Given the description of an element on the screen output the (x, y) to click on. 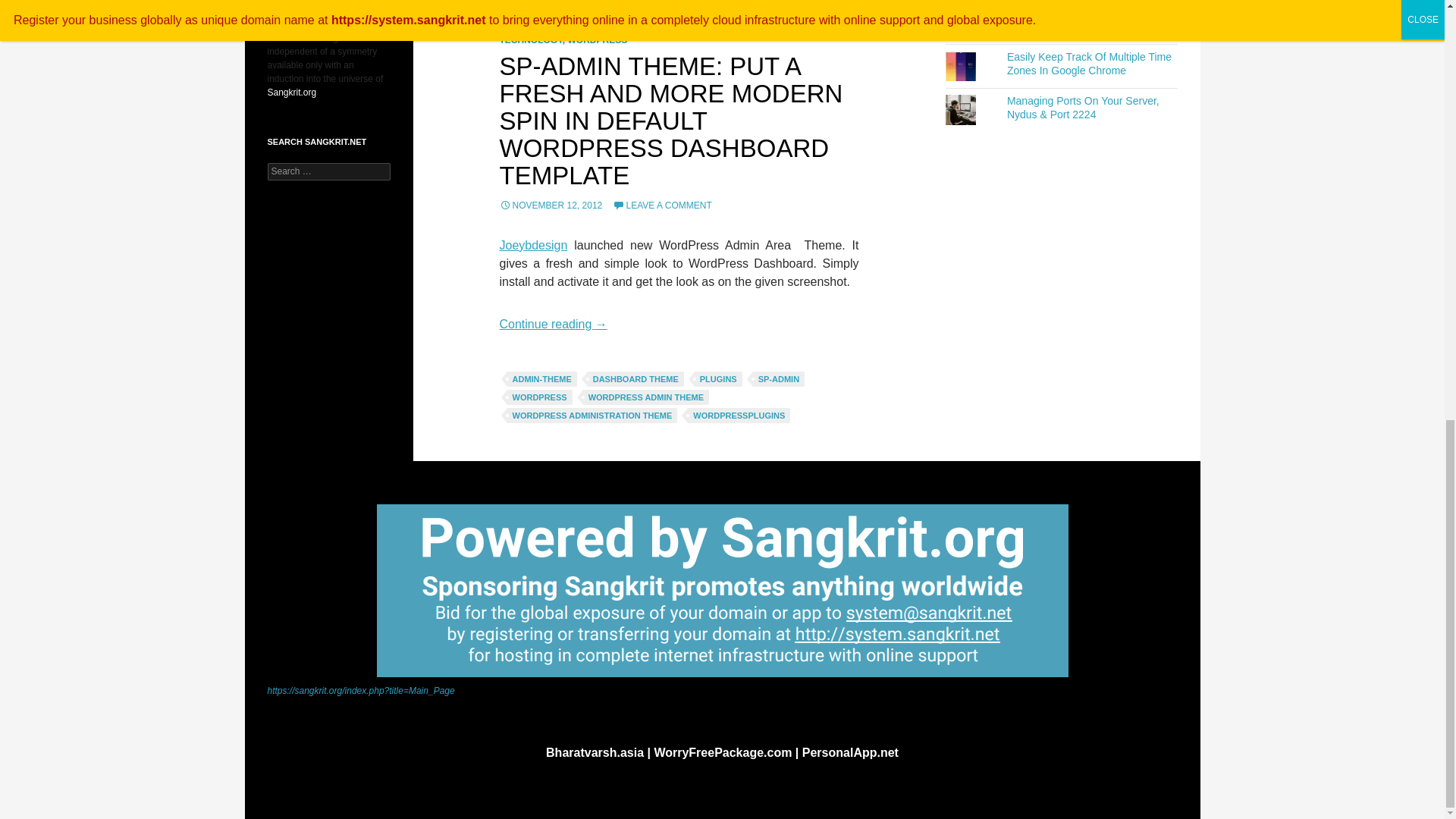
TECHNOLOGY (530, 40)
WORDPRESSTHEMES (556, 7)
WP QUICK ADMIN THEMES (676, 7)
